Given the description of an element on the screen output the (x, y) to click on. 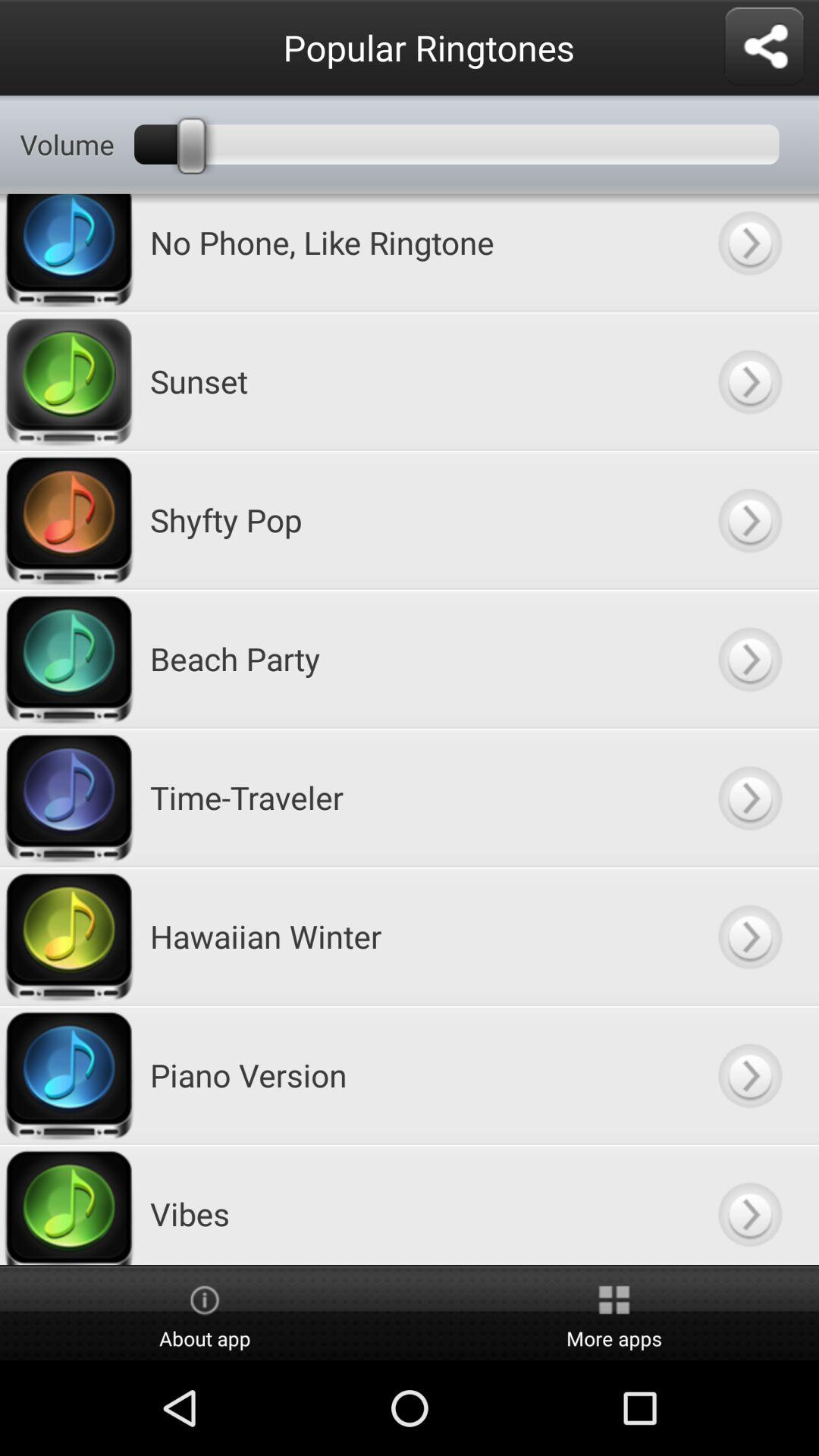
go to ringtone time-traveler (749, 797)
